Given the description of an element on the screen output the (x, y) to click on. 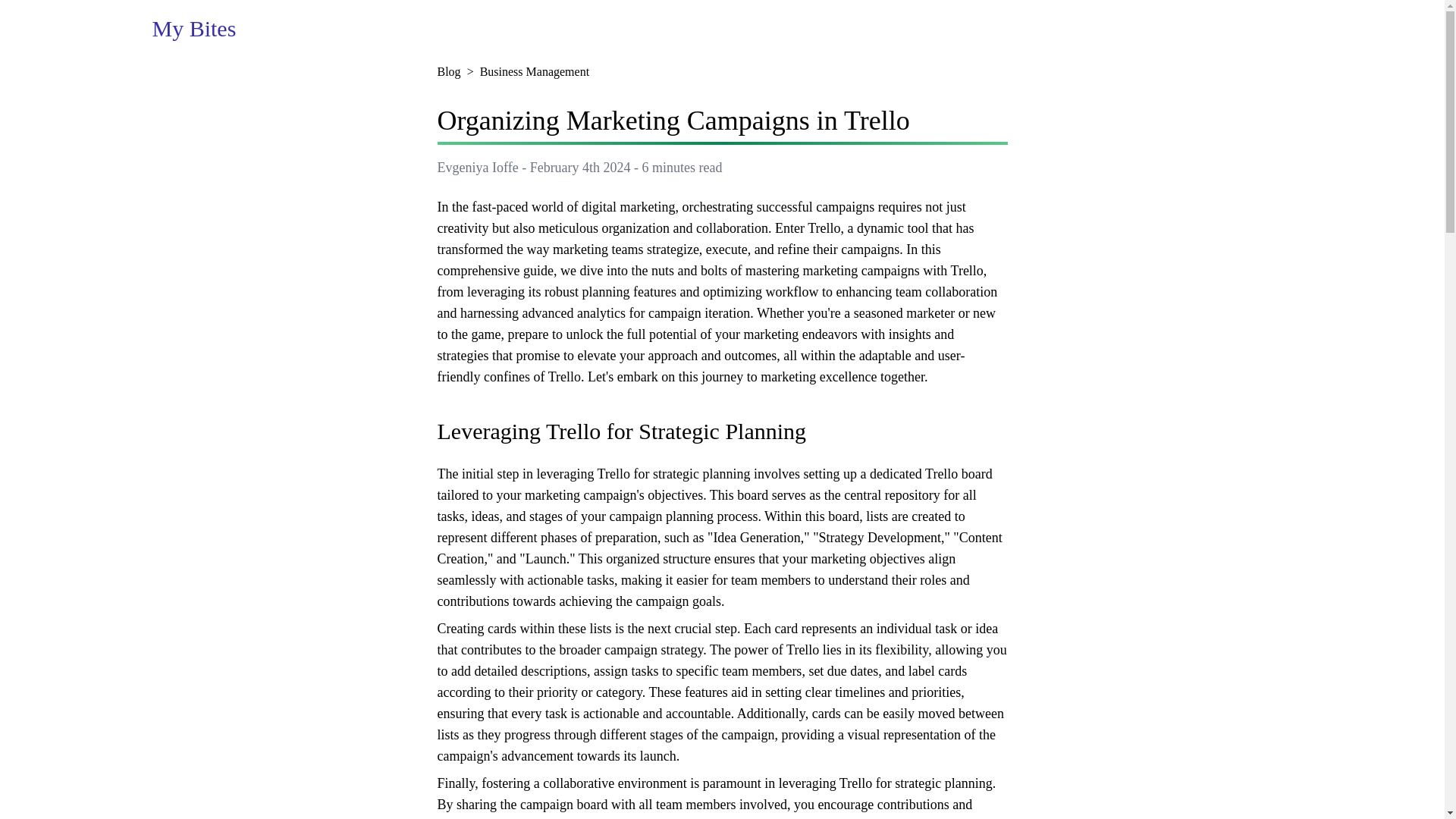
Business Management (534, 72)
Blog (448, 72)
My Bites (193, 28)
